Given the description of an element on the screen output the (x, y) to click on. 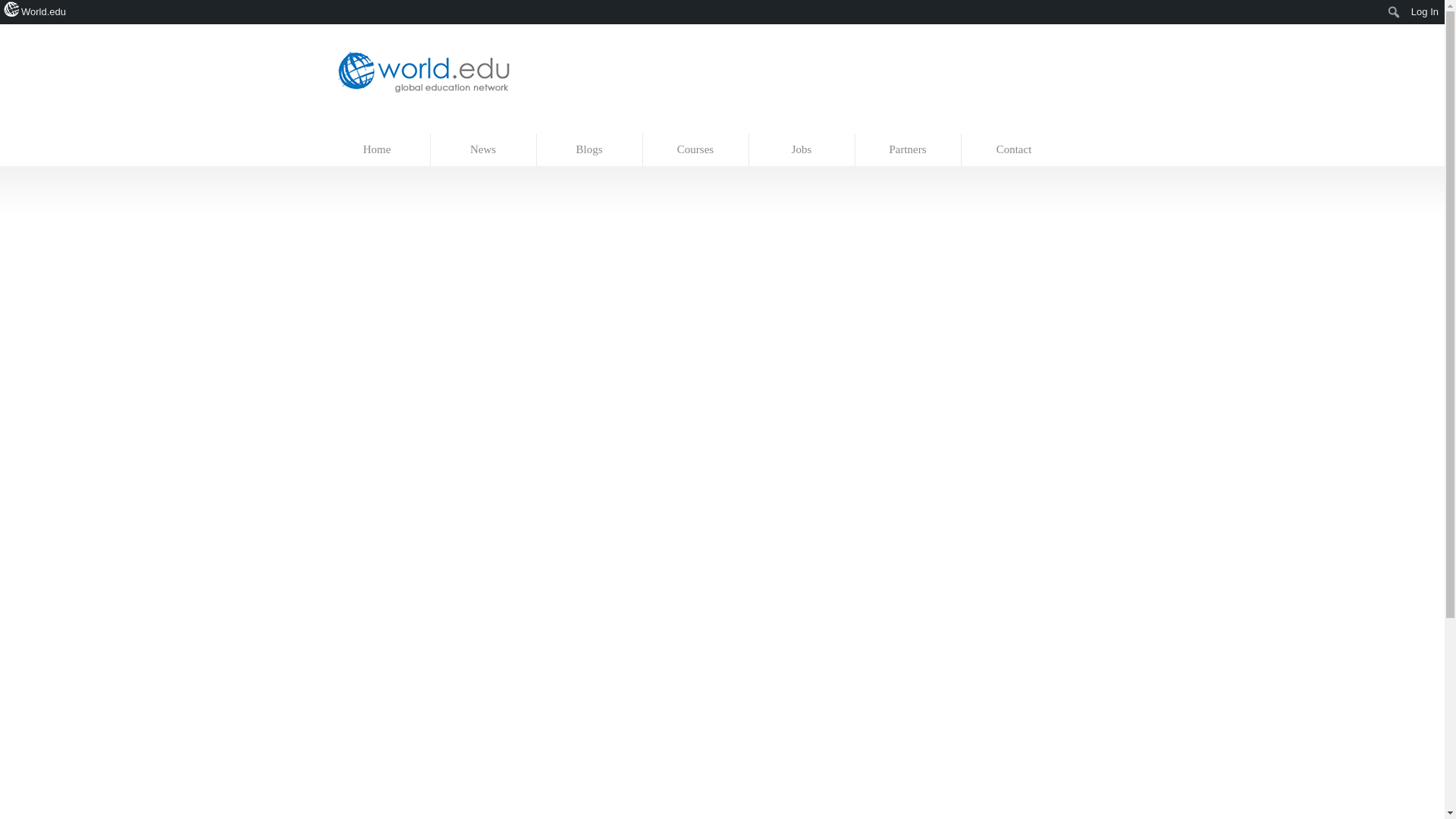
Partners (908, 149)
Skip to content (357, 125)
Courses (696, 149)
Jobs (802, 149)
Blogs (590, 149)
News (483, 149)
Home (377, 149)
Contact (1013, 149)
Skip to content (357, 125)
